Given the description of an element on the screen output the (x, y) to click on. 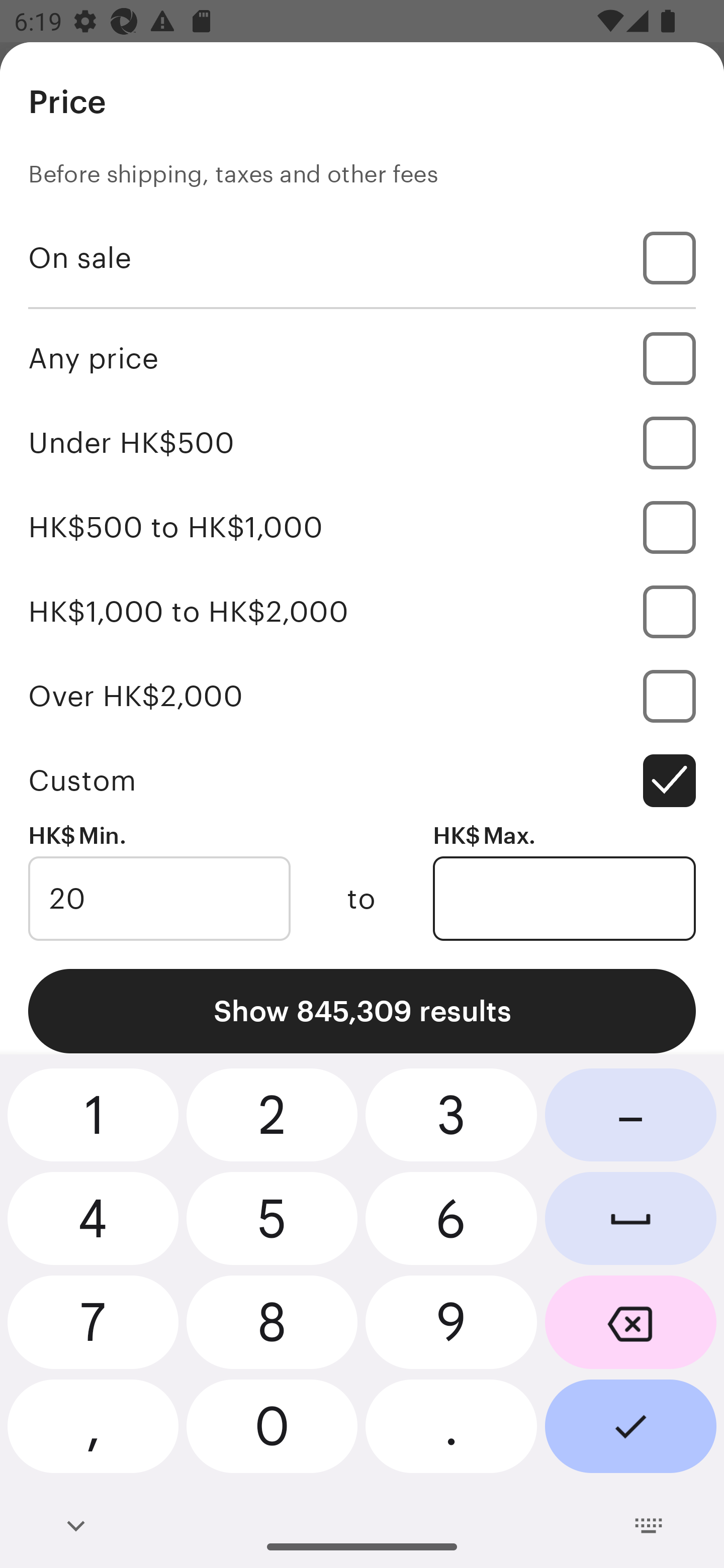
On sale (362, 257)
Any price (362, 357)
Under HK$500 (362, 441)
HK$500 to HK$1,000 (362, 526)
HK$1,000 to HK$2,000 (362, 611)
Over HK$2,000 (362, 695)
Custom (362, 780)
20 (159, 898)
Show 845,309 results (361, 1011)
